Given the description of an element on the screen output the (x, y) to click on. 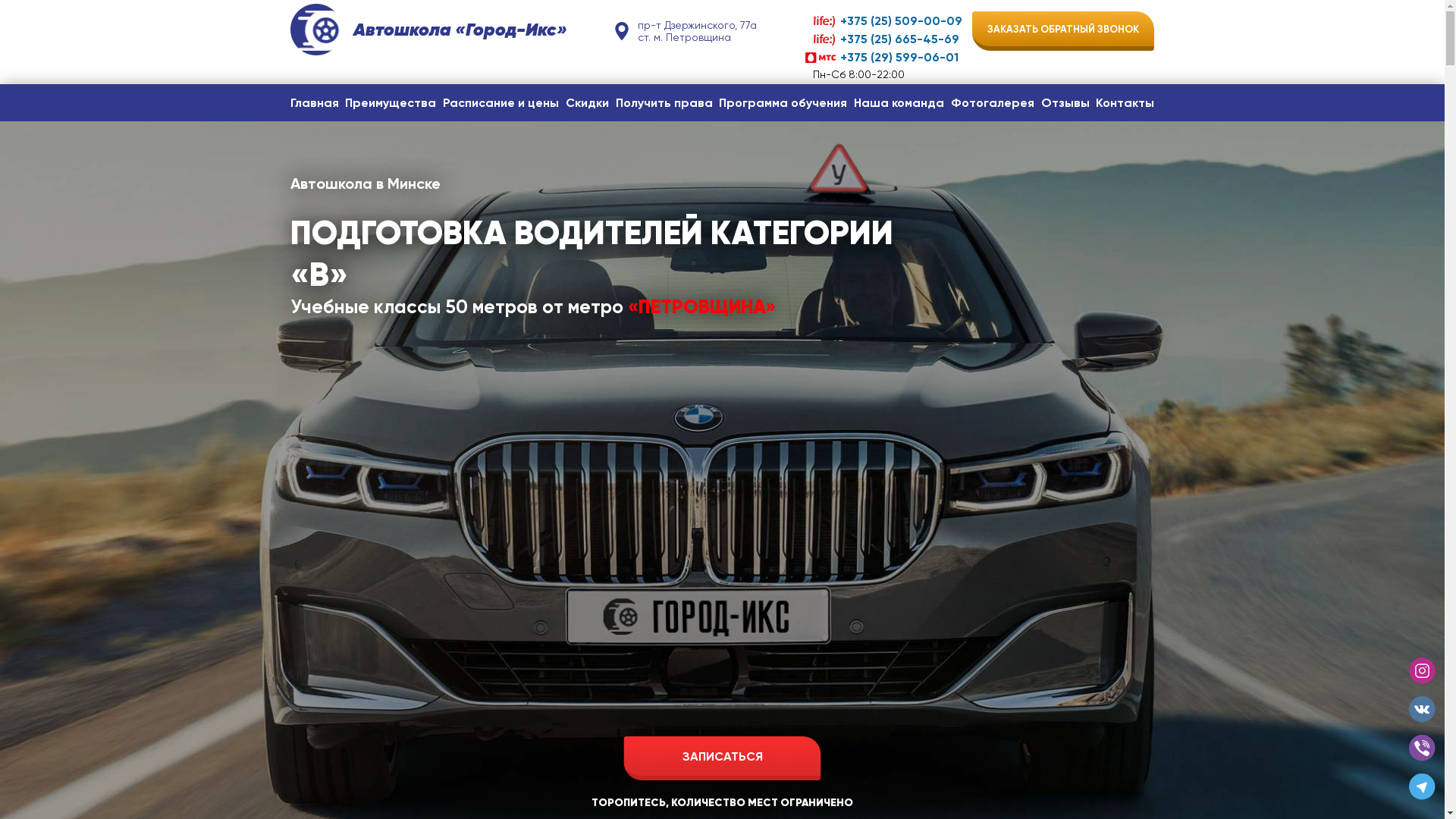
+375 (29) 599-06-01 Element type: text (883, 57)
+375 (25) 665-45-69 Element type: text (883, 38)
+375 (25) 509-00-09 Element type: text (883, 20)
